Given the description of an element on the screen output the (x, y) to click on. 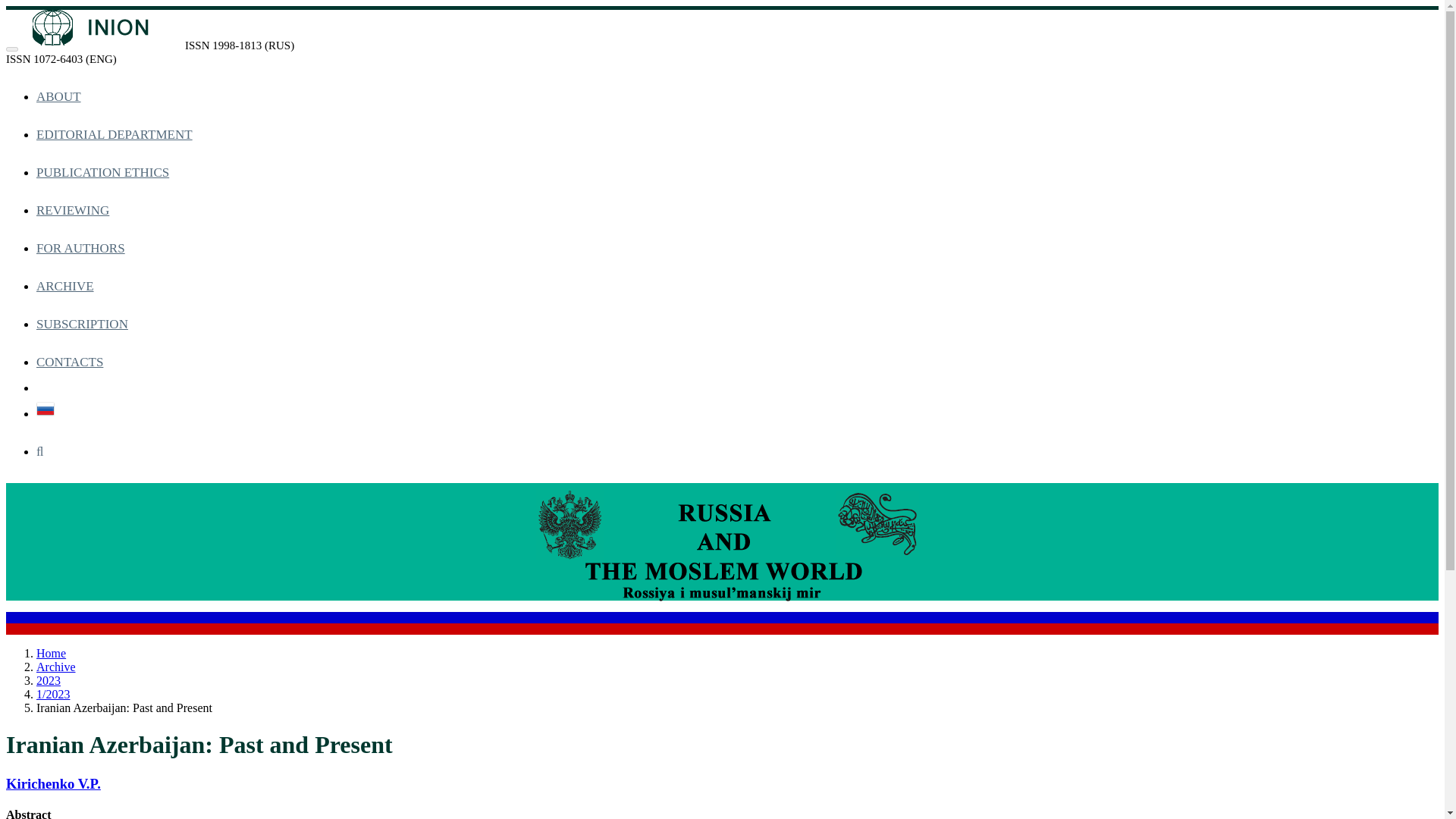
FOR AUTHORS (80, 248)
Home (50, 653)
ARCHIVE (65, 285)
EDITORIAL DEPARTMENT (114, 134)
2023 (48, 680)
Archive (55, 666)
Toggle navigation (11, 48)
ABOUT (58, 96)
SUBSCRIPTION (82, 324)
Kirichenko V.P. (52, 783)
PUBLICATION ETHICS (102, 171)
CONTACTS (69, 361)
REVIEWING (72, 210)
